Given the description of an element on the screen output the (x, y) to click on. 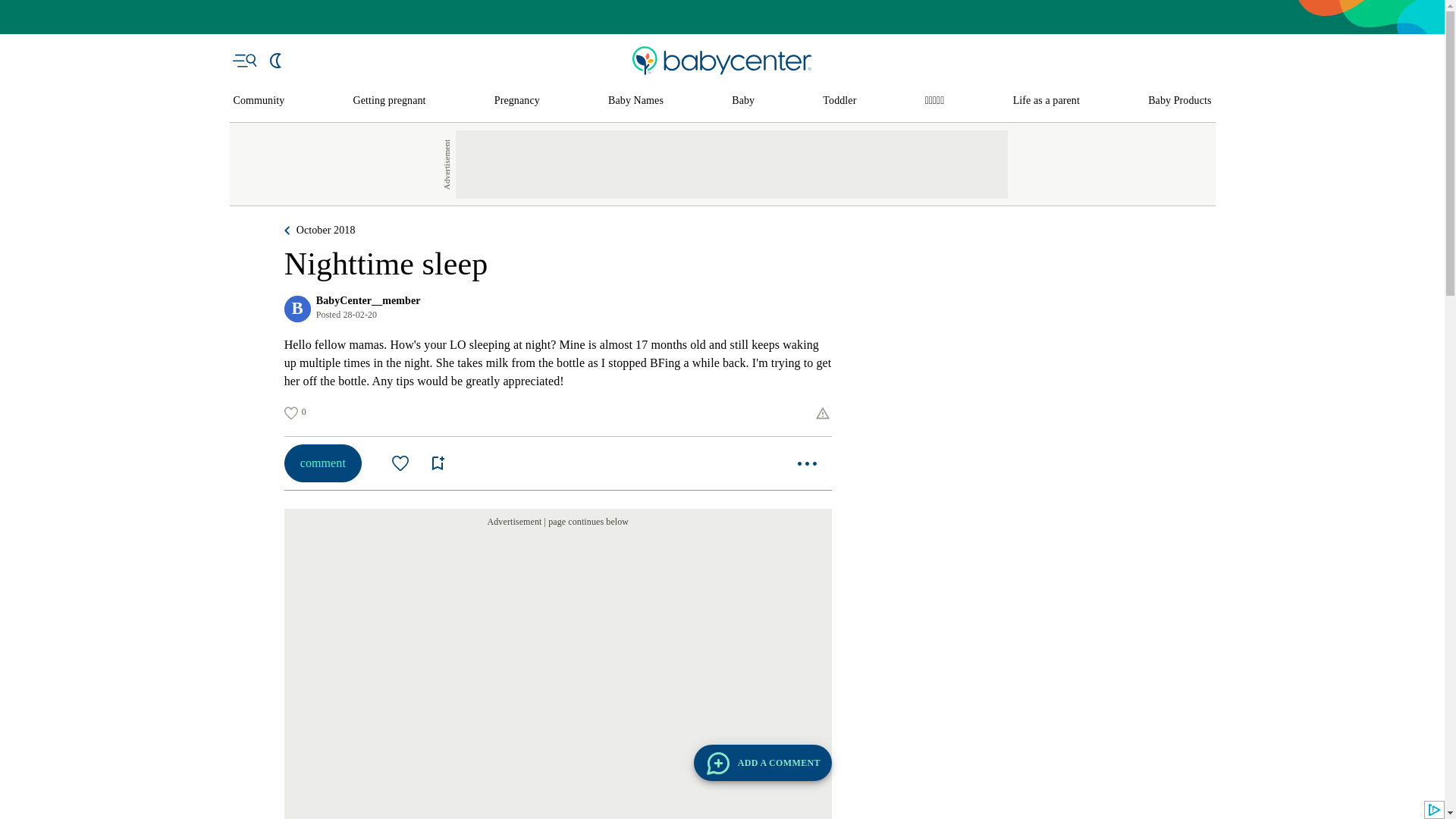
Life as a parent (1046, 101)
Pregnancy (517, 101)
Baby Products (1179, 101)
Getting pregnant (389, 101)
Toddler (839, 101)
Baby (743, 101)
Community (258, 101)
Baby Names (635, 101)
